Given the description of an element on the screen output the (x, y) to click on. 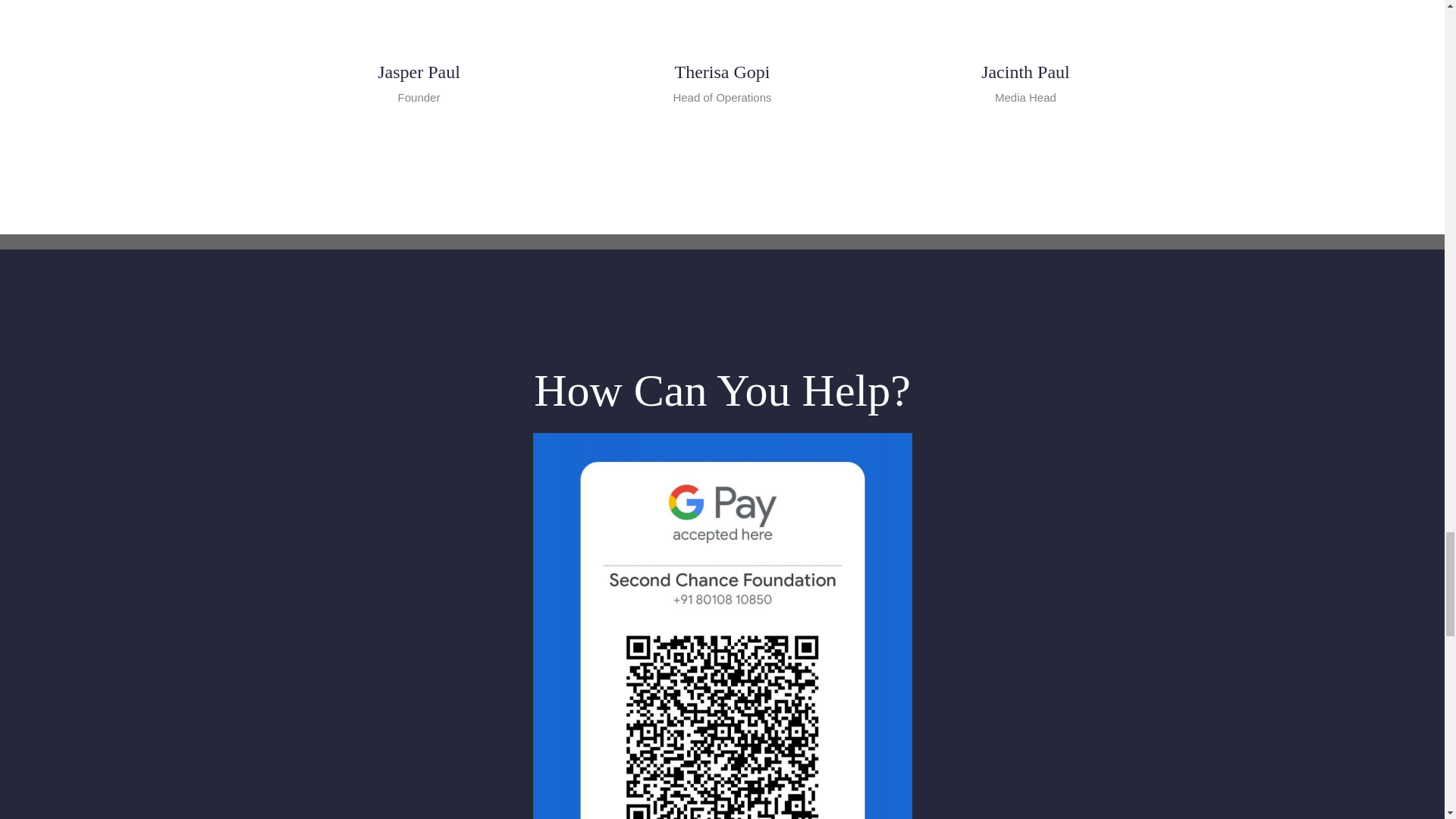
Jasper Paul (418, 71)
